Given the description of an element on the screen output the (x, y) to click on. 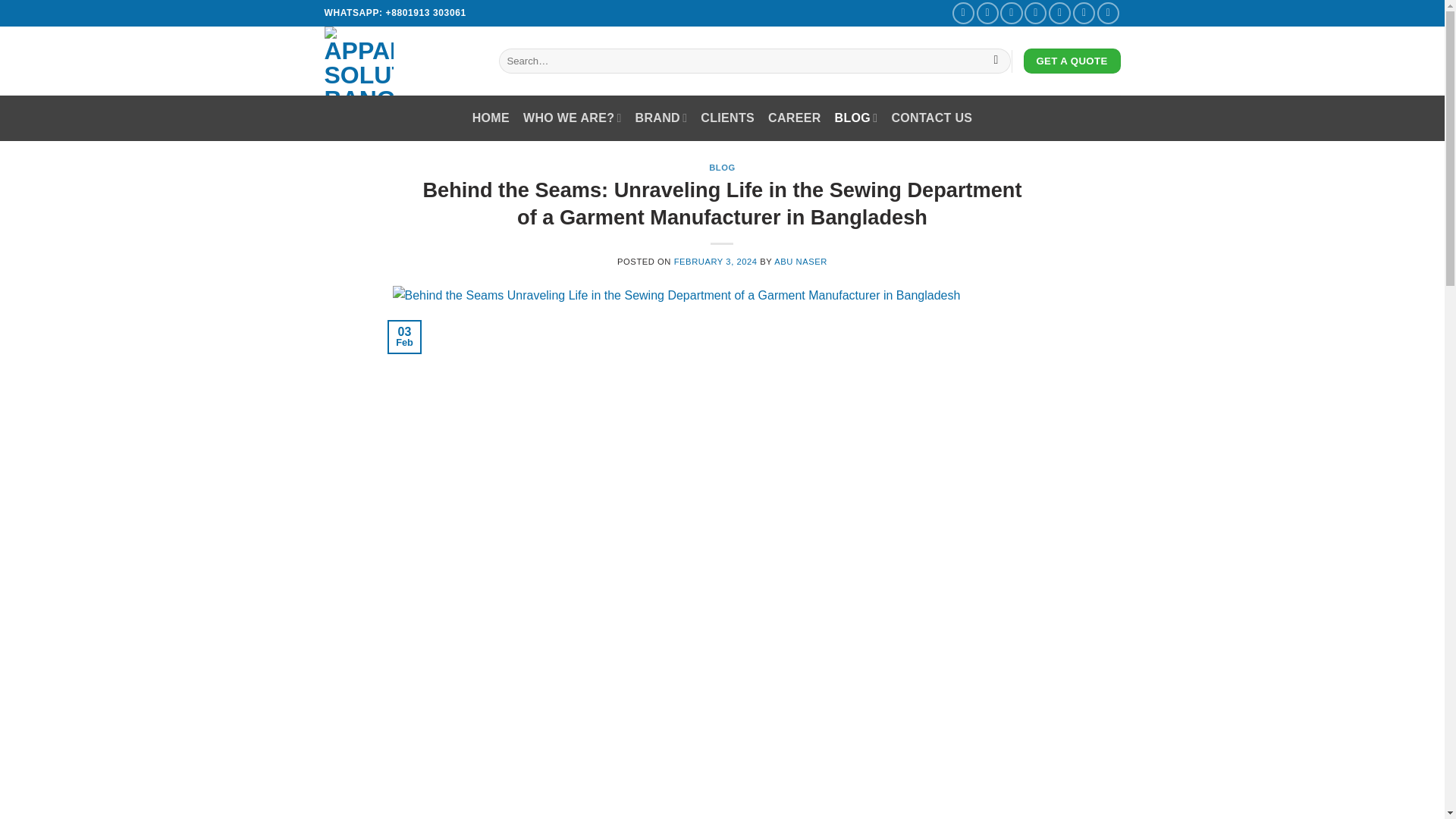
GET A QUOTE (1072, 61)
CONTACT US (931, 117)
Follow on LinkedIn (1108, 13)
FEBRUARY 3, 2024 (715, 261)
WHO WE ARE? (571, 117)
Send us an email (1035, 13)
Search (996, 61)
Apparel Solutions Bangladesh (400, 60)
Call us (1059, 13)
CLIENTS (727, 117)
Follow on Facebook (963, 13)
BLOG (855, 117)
Follow on Pinterest (1083, 13)
ABU NASER (800, 261)
Follow on X (1011, 13)
